Given the description of an element on the screen output the (x, y) to click on. 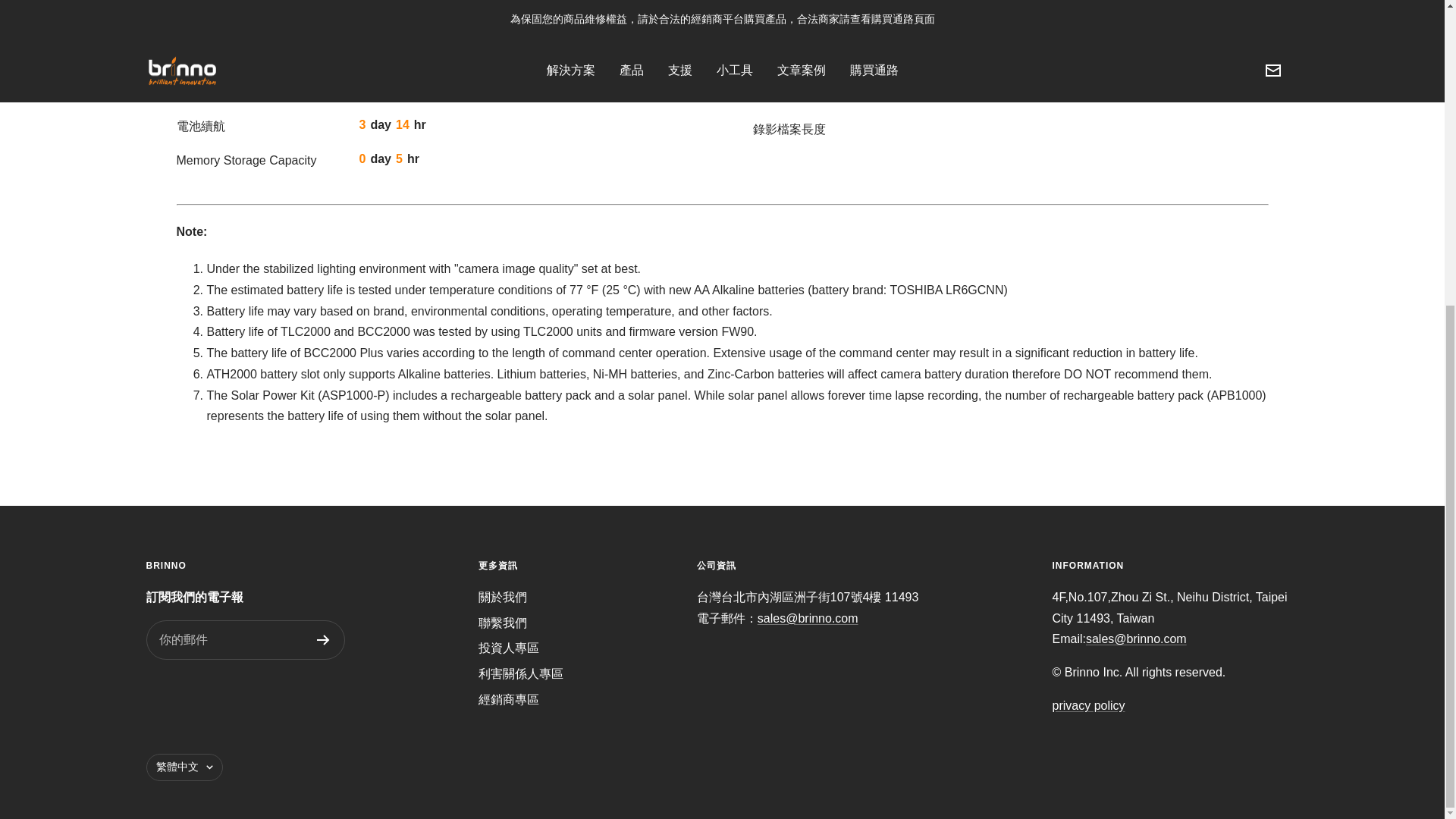
en (189, 601)
0 (1000, 69)
fr (189, 641)
zh-TW (189, 721)
privacy policy (1088, 705)
ja (189, 681)
it (189, 661)
Calculate (1201, 69)
de (189, 701)
privacy policy (1088, 705)
